Given the description of an element on the screen output the (x, y) to click on. 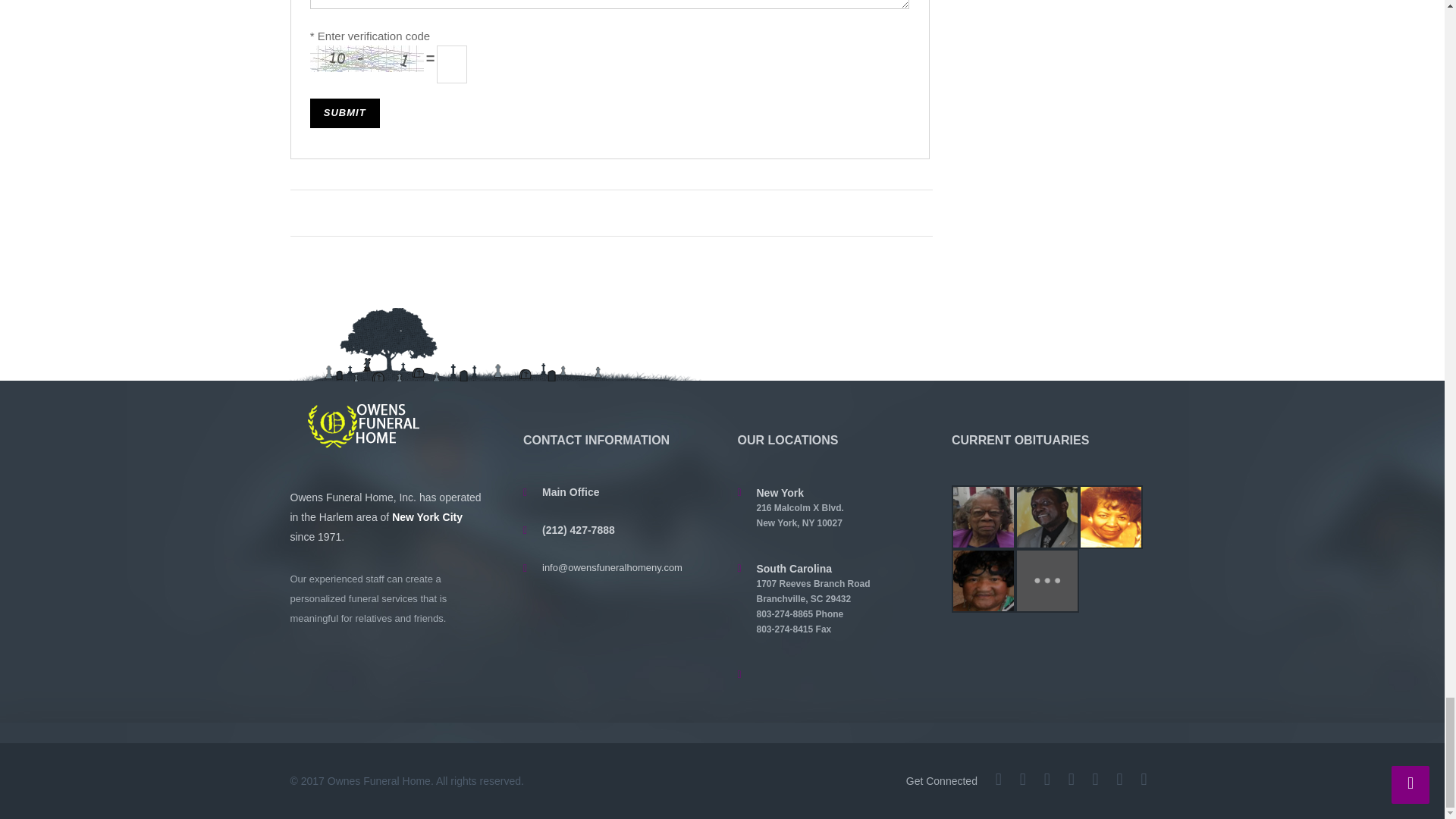
SUBMIT (345, 112)
